Given the description of an element on the screen output the (x, y) to click on. 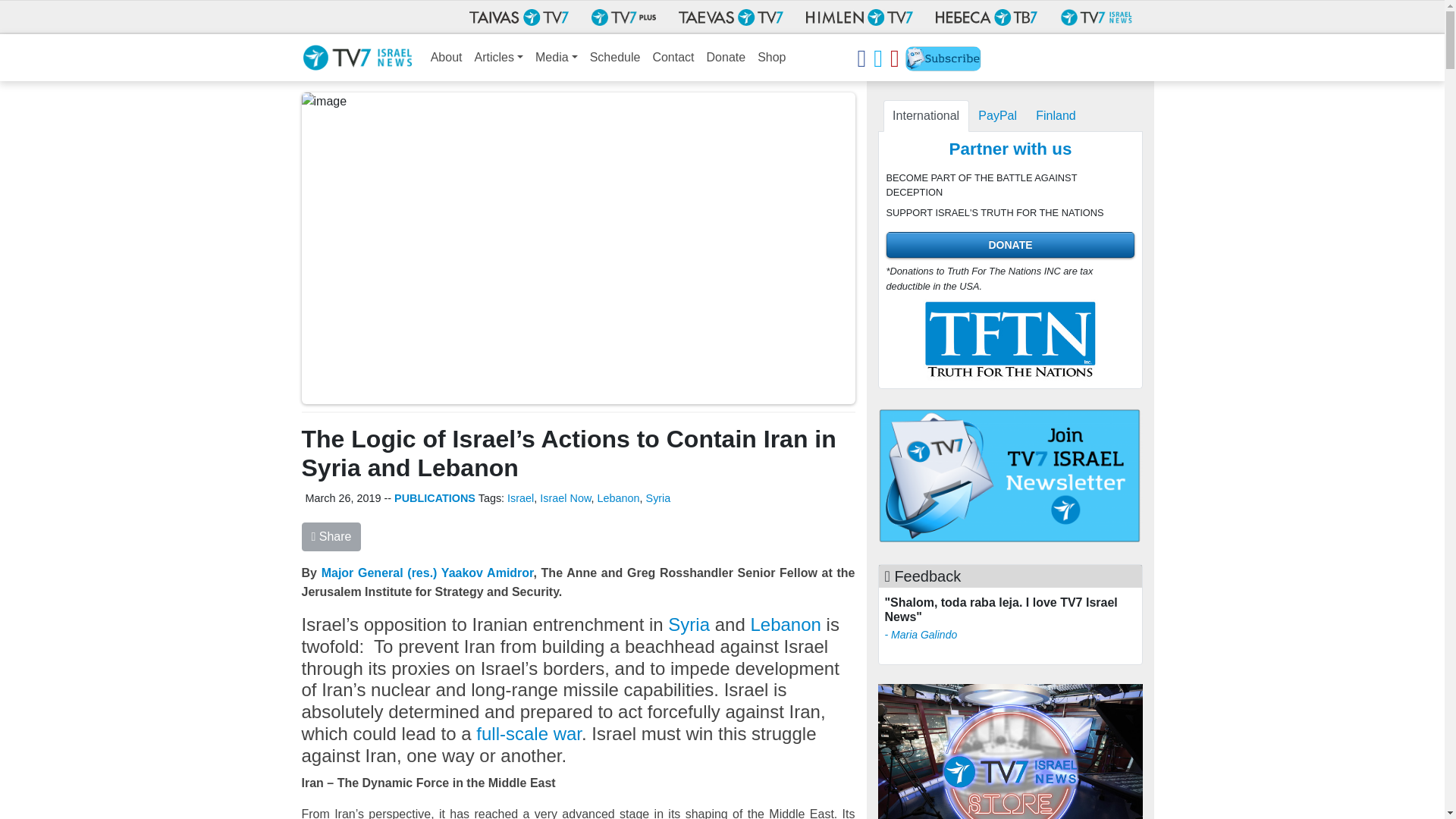
Lebanon (618, 498)
Syria (658, 498)
Newsletter (943, 60)
Share (331, 536)
Shop (771, 57)
Donate (726, 57)
Israel (520, 498)
Syria (686, 624)
Media (556, 57)
Articles (498, 57)
